Given the description of an element on the screen output the (x, y) to click on. 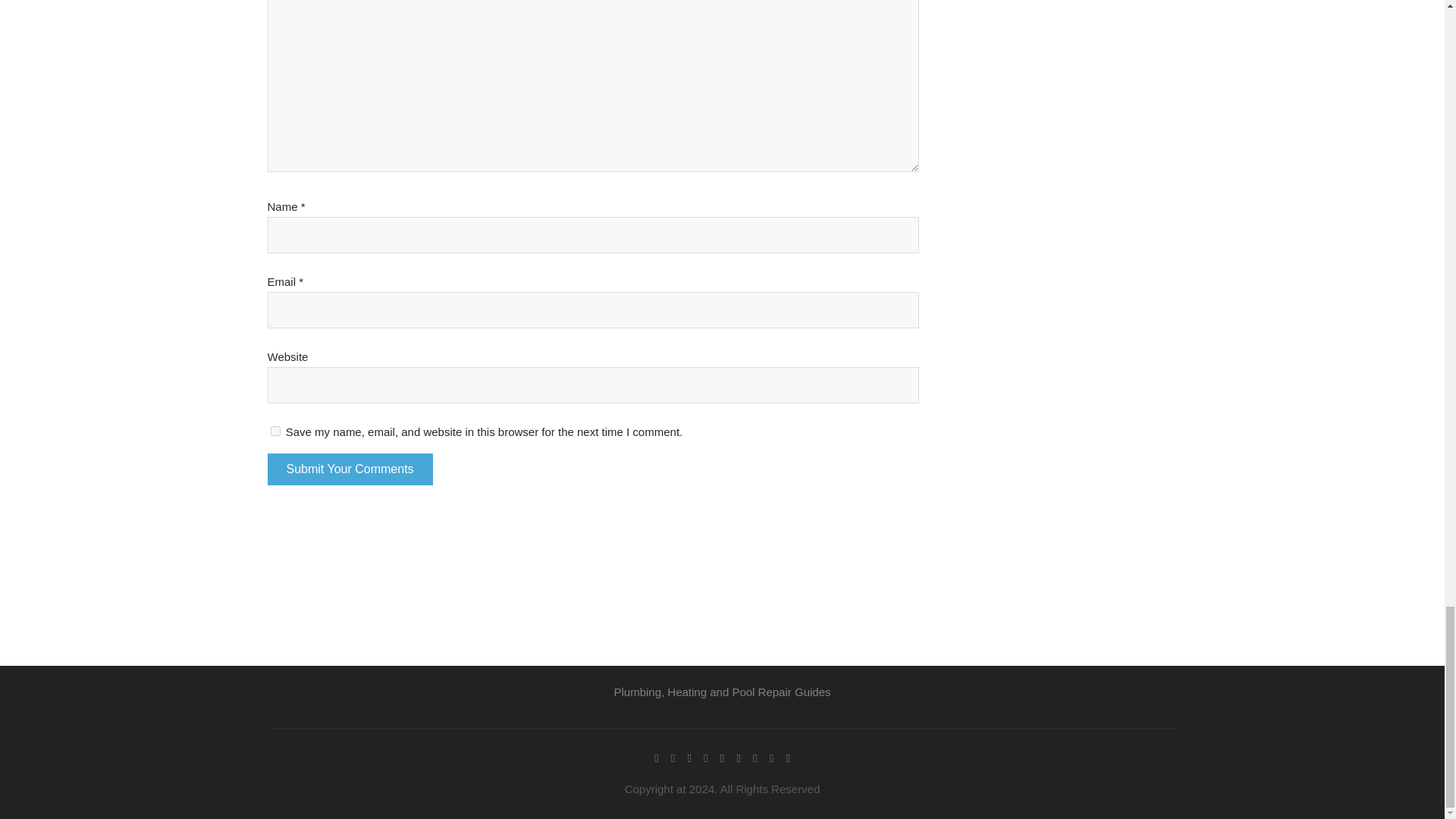
Submit Your Comments (349, 469)
Submit Your Comments (349, 469)
yes (274, 430)
